Given the description of an element on the screen output the (x, y) to click on. 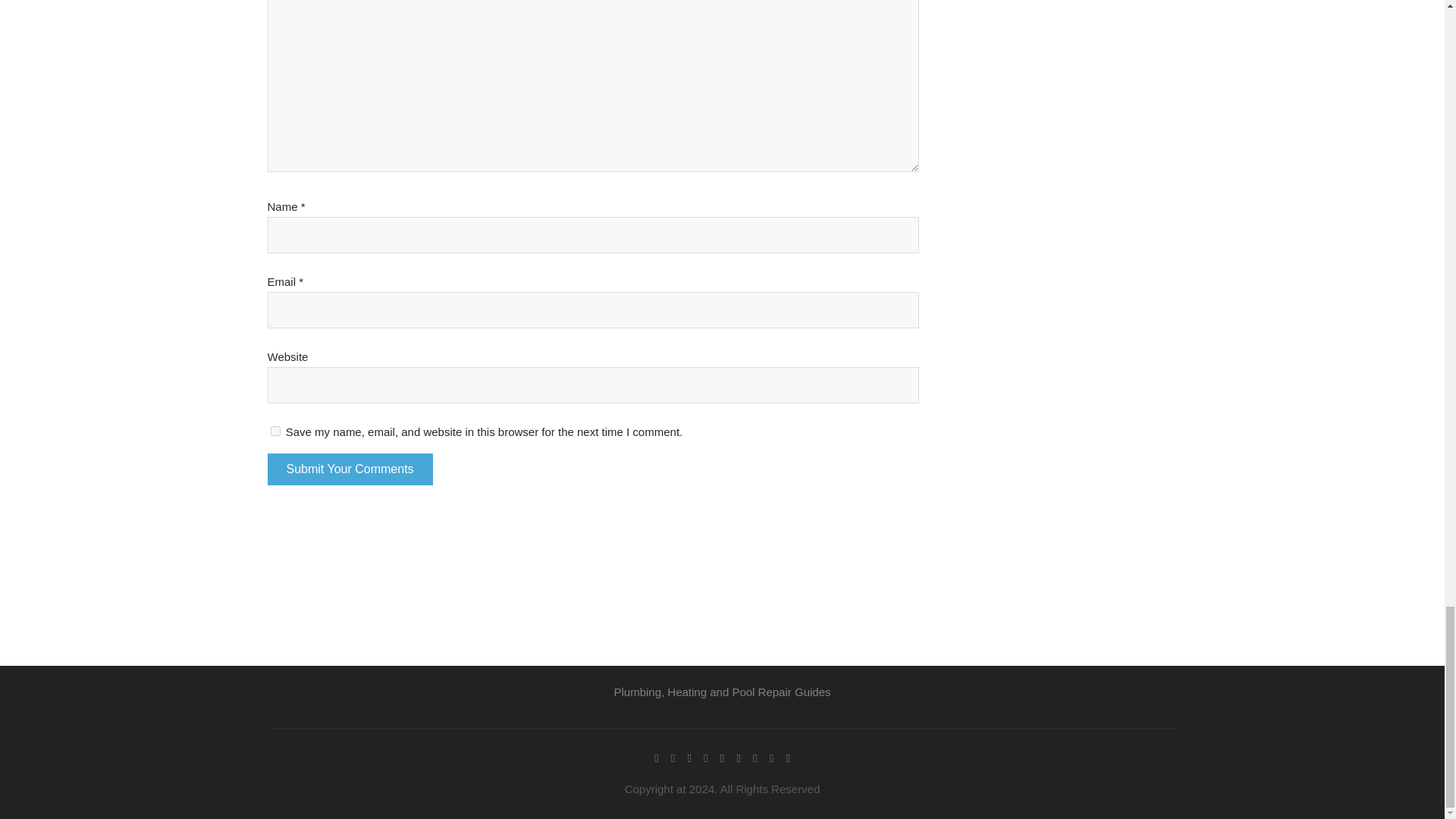
Submit Your Comments (349, 469)
Submit Your Comments (349, 469)
yes (274, 430)
